Given the description of an element on the screen output the (x, y) to click on. 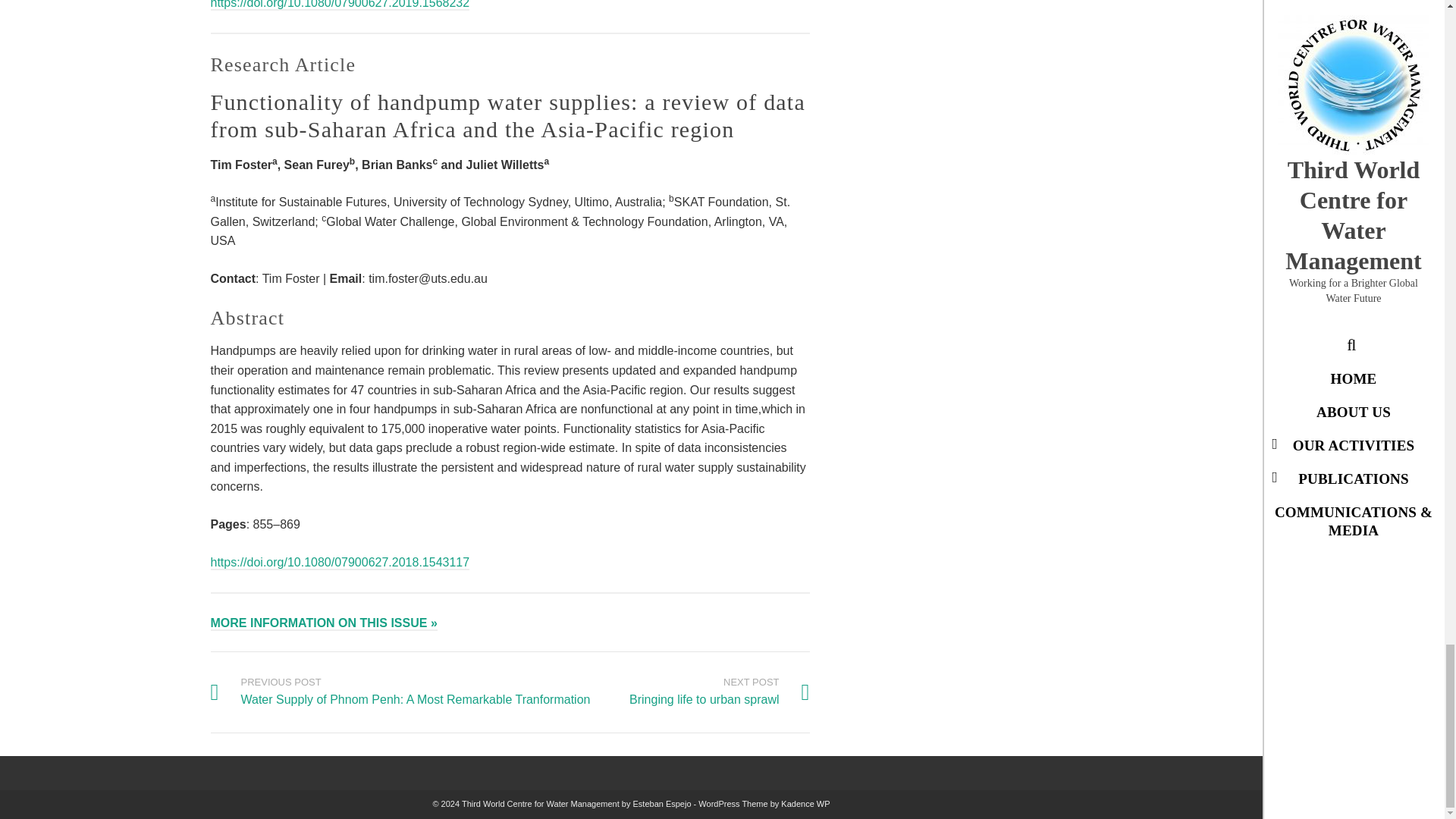
Kadence WP (804, 803)
